Given the description of an element on the screen output the (x, y) to click on. 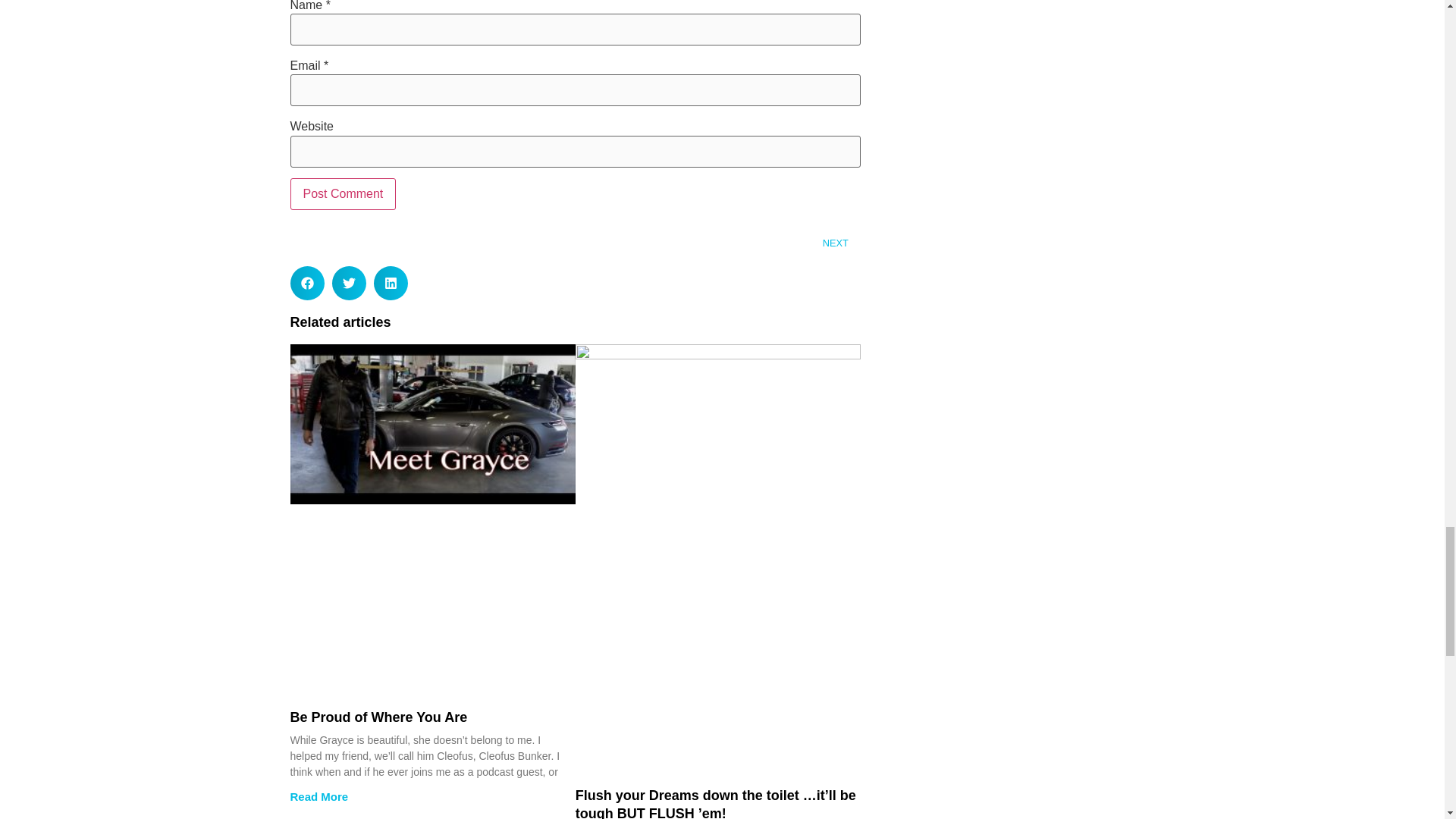
Be Proud of Where You Are (378, 717)
NEXT (717, 242)
Post Comment (342, 193)
Post Comment (342, 193)
Read More (318, 796)
